Given the description of an element on the screen output the (x, y) to click on. 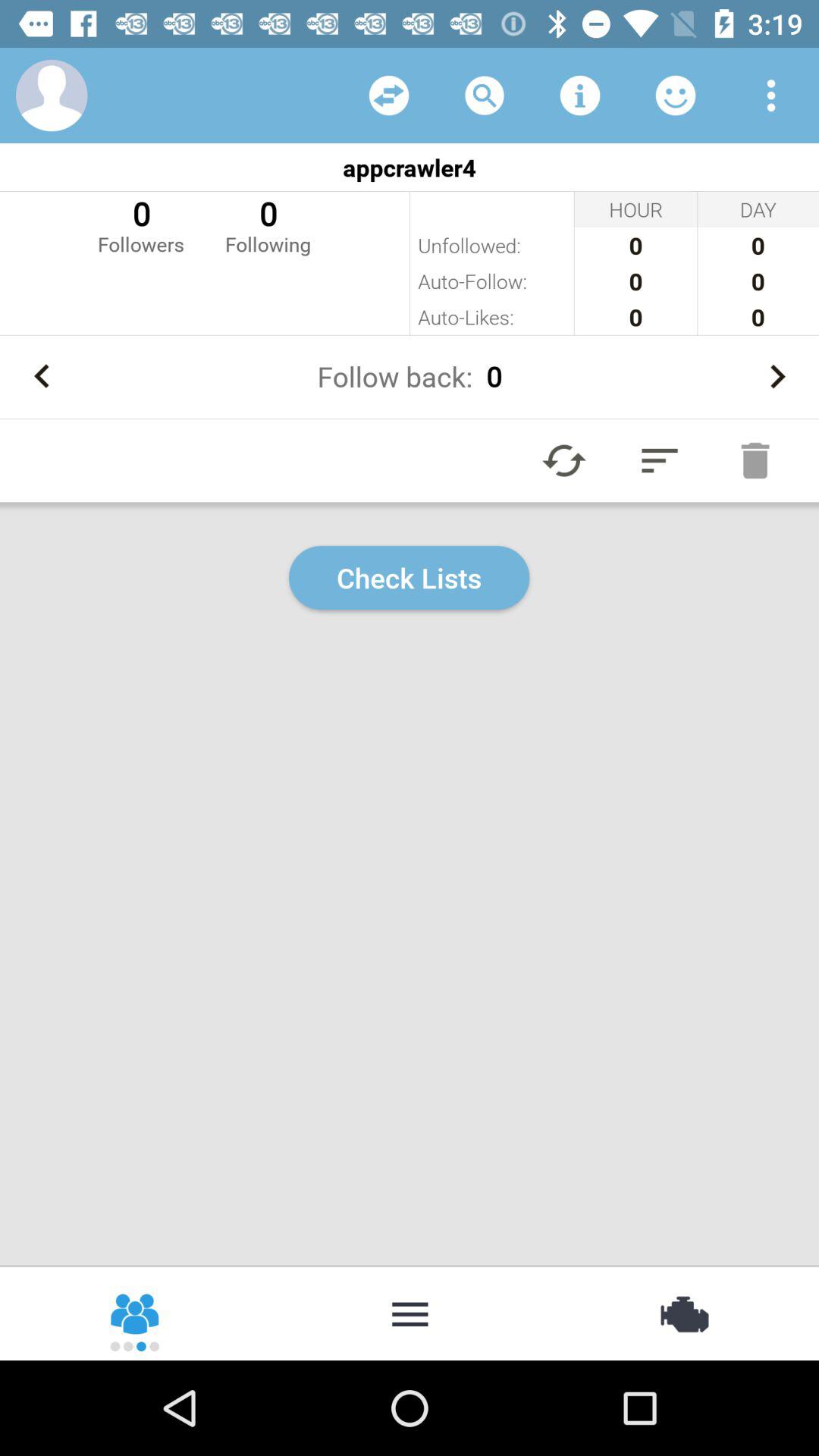
previous (41, 376)
